Given the description of an element on the screen output the (x, y) to click on. 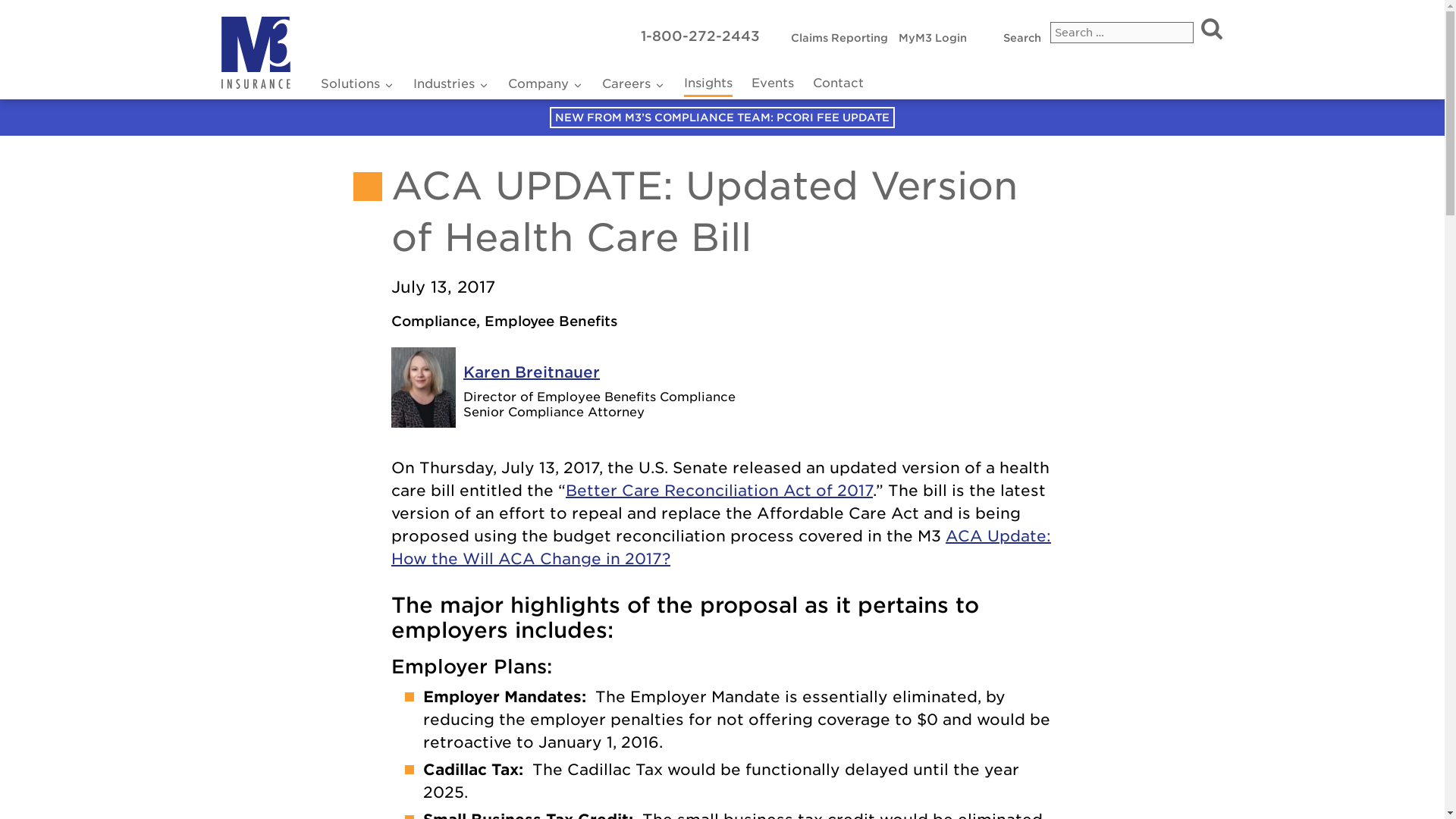
1-800-272-2443 (700, 35)
search (1211, 27)
Claims Reporting (356, 85)
MyM3 Login (839, 37)
